Given the description of an element on the screen output the (x, y) to click on. 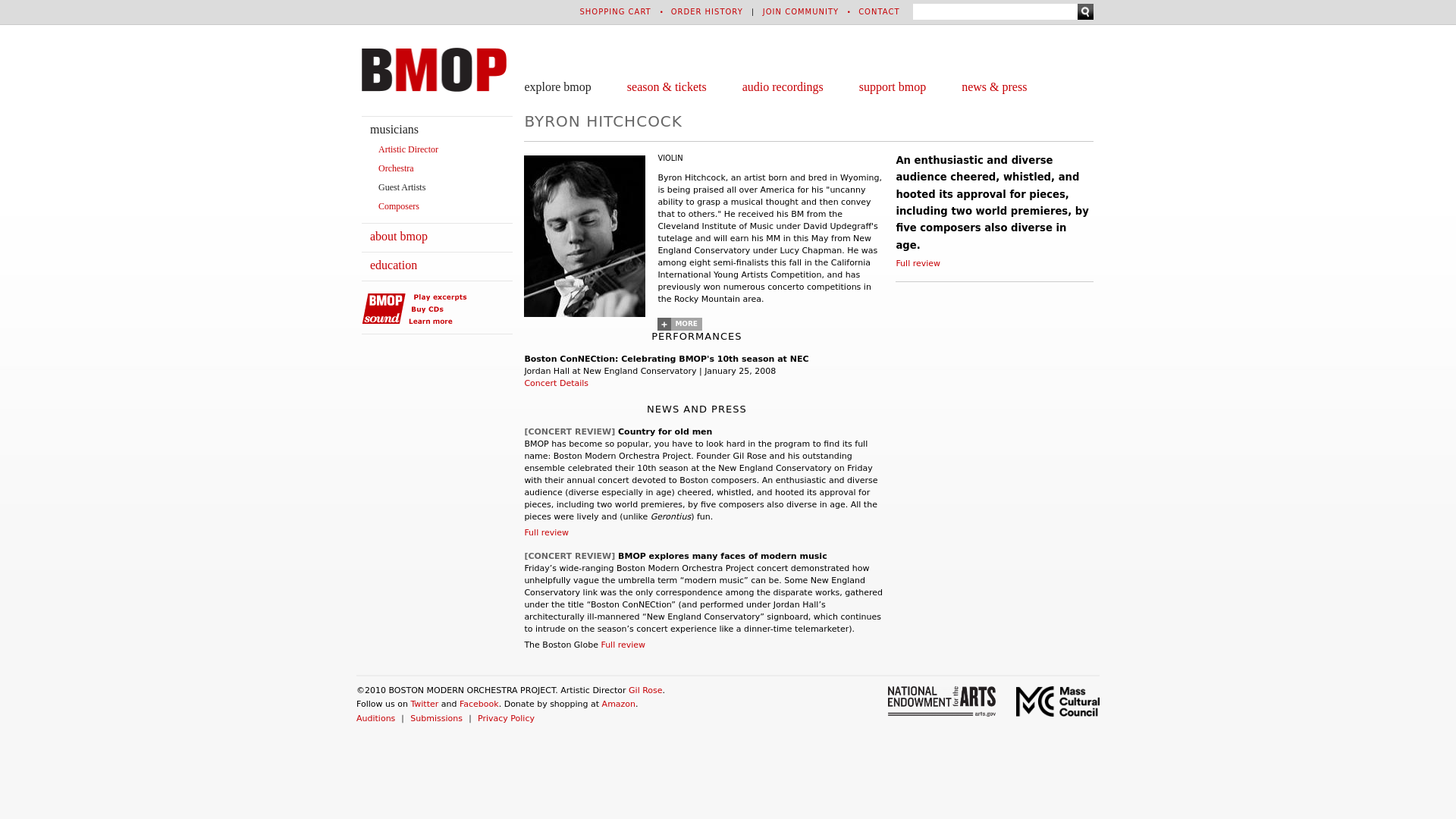
Boston Modern Orchestra Project (395, 167)
Gil Rose (645, 690)
MORE (679, 323)
Facebook (479, 704)
Enter the terms you wish to search for. (994, 11)
Artistic Director (408, 149)
Privacy Policy (505, 718)
SHOPPING CART (614, 11)
Search (1085, 11)
support bmop (892, 87)
Submissions (436, 718)
explore bmop (557, 87)
Amazon (618, 704)
ORDER HISTORY (706, 11)
Full review (622, 644)
